Given the description of an element on the screen output the (x, y) to click on. 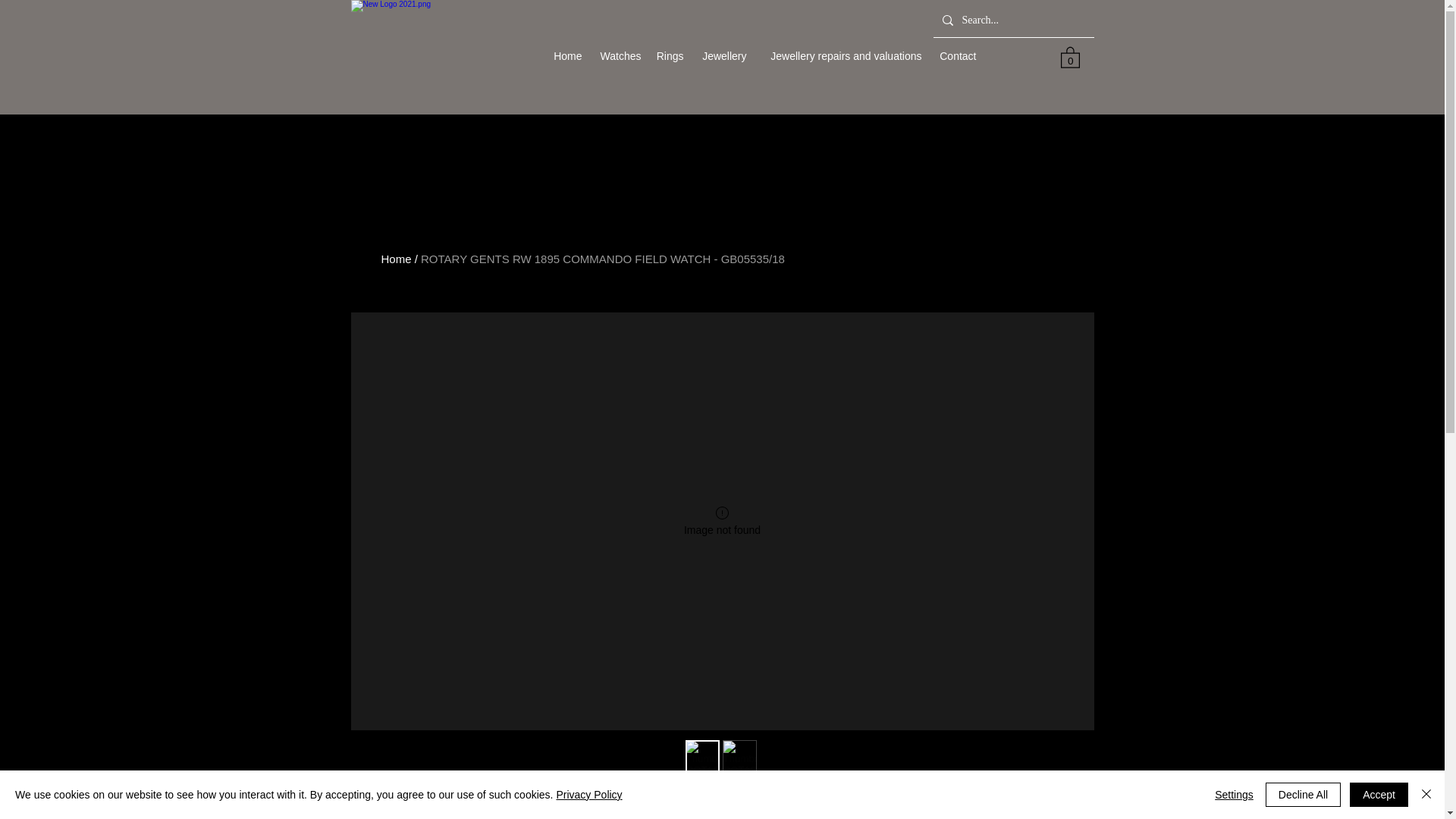
Rings (670, 56)
Jewellery (722, 56)
0 (1068, 56)
Home (566, 56)
Watches (619, 56)
Contact (957, 56)
Home (395, 258)
0 (1068, 56)
Jewellery repairs and valuations (841, 56)
